Given the description of an element on the screen output the (x, y) to click on. 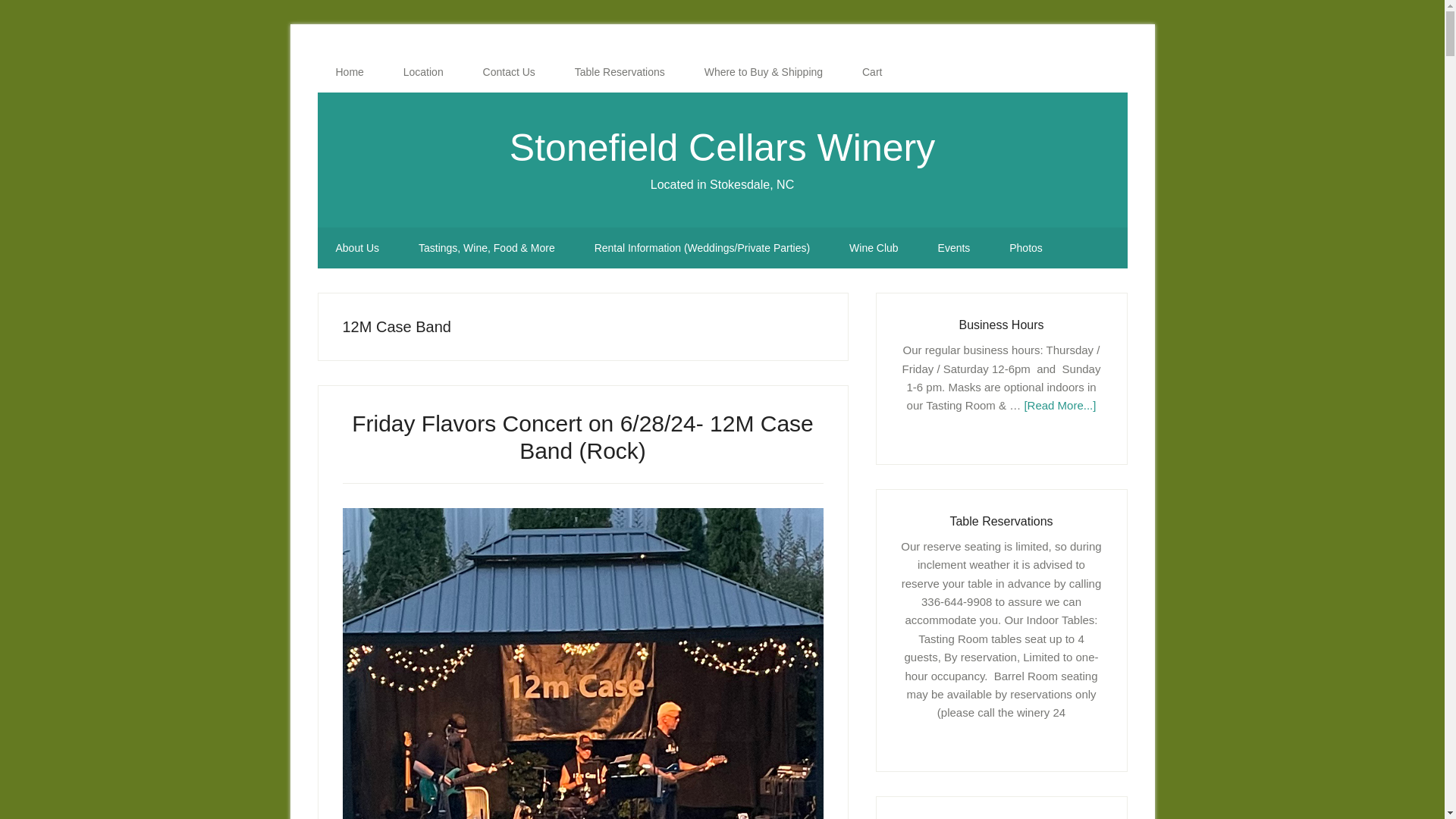
About Us (357, 247)
Home (349, 71)
Contact Us (508, 71)
Stonefield Cellars Winery (721, 147)
Cart (871, 71)
Wine Club (874, 247)
Events (954, 247)
Photos (1026, 247)
Location (423, 71)
Table Reservations (619, 71)
